Given the description of an element on the screen output the (x, y) to click on. 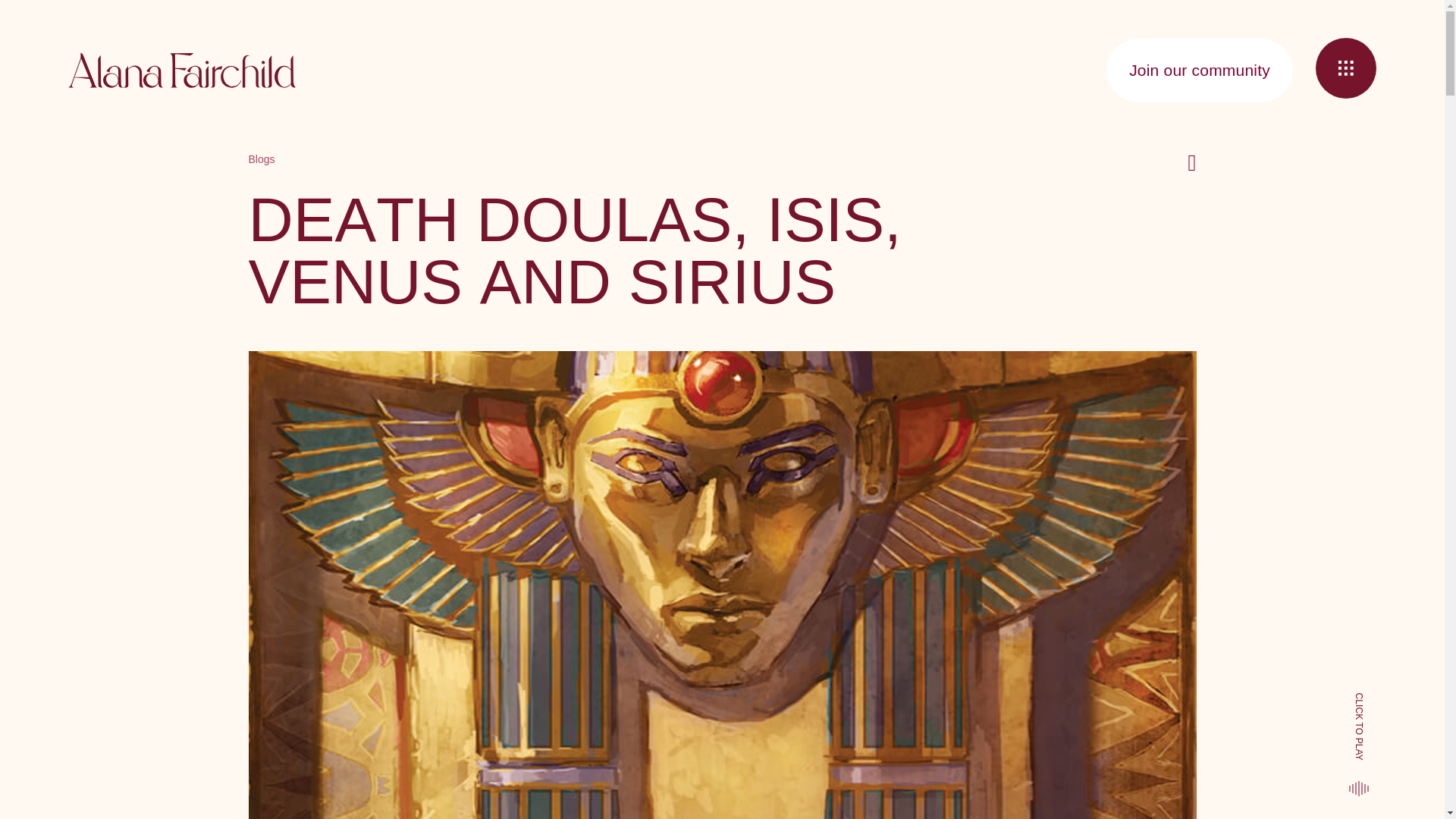
Join our community (1199, 70)
Blogs (261, 159)
